Given the description of an element on the screen output the (x, y) to click on. 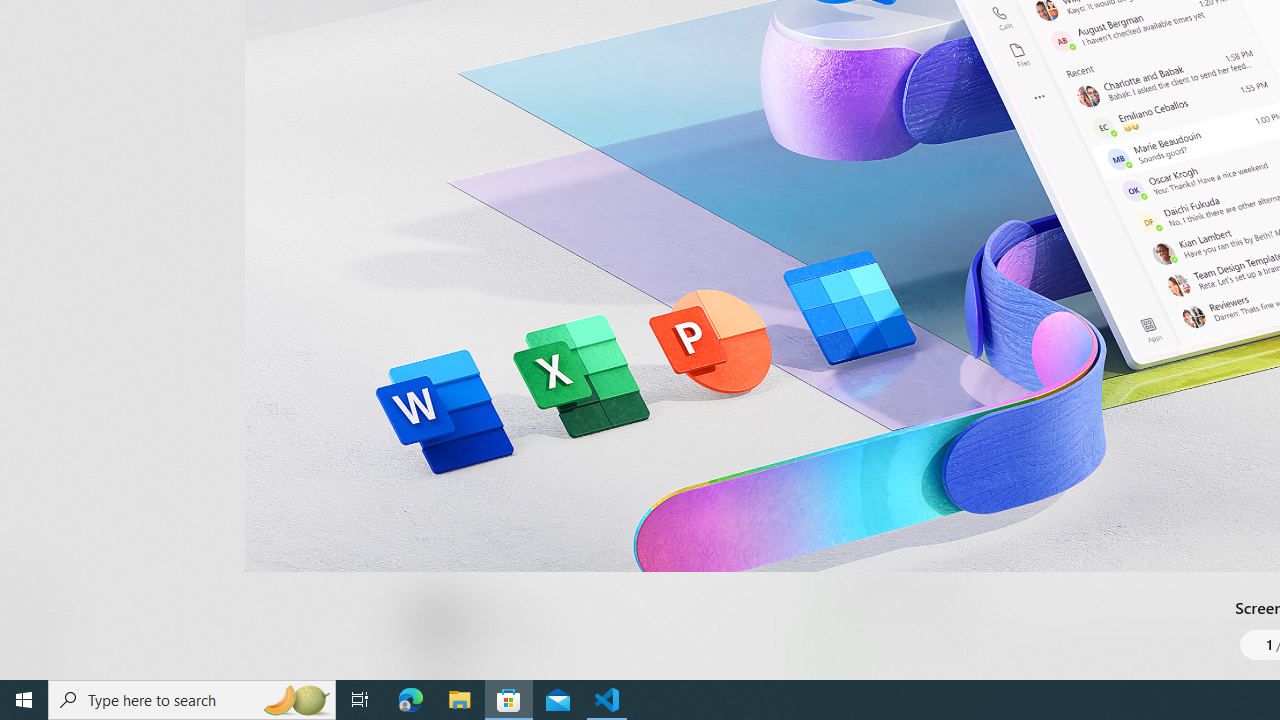
Library (35, 640)
Show all ratings and reviews (838, 207)
Productivity (579, 30)
Show less (850, 518)
Share (746, 632)
Show more (854, 674)
What's New (35, 578)
Age rating: EVERYONE. Click for more information. (506, 619)
